Given the description of an element on the screen output the (x, y) to click on. 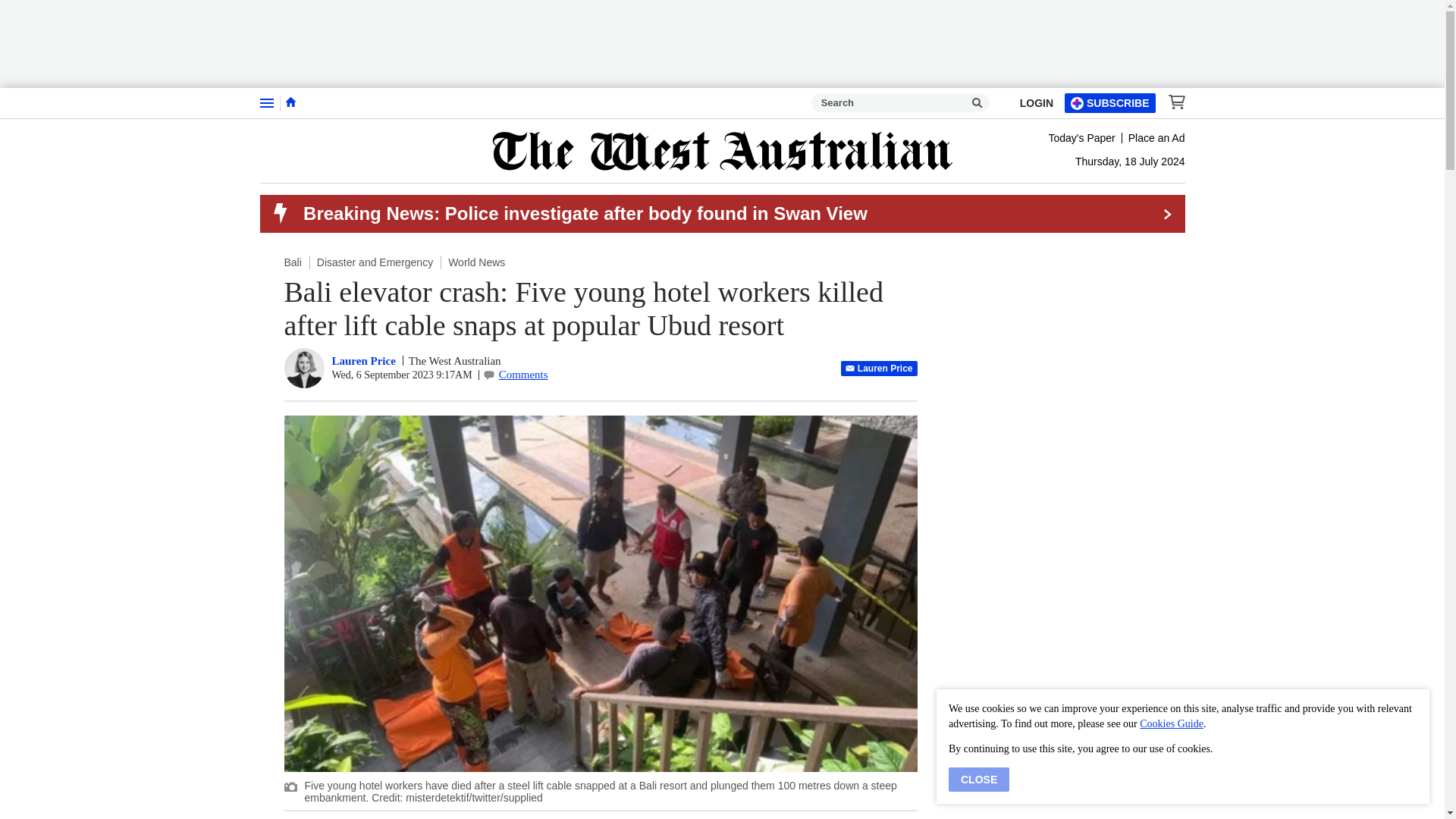
Please enter a search term. (977, 102)
Empty Cart Icon (1172, 102)
Home (290, 102)
